Given the description of an element on the screen output the (x, y) to click on. 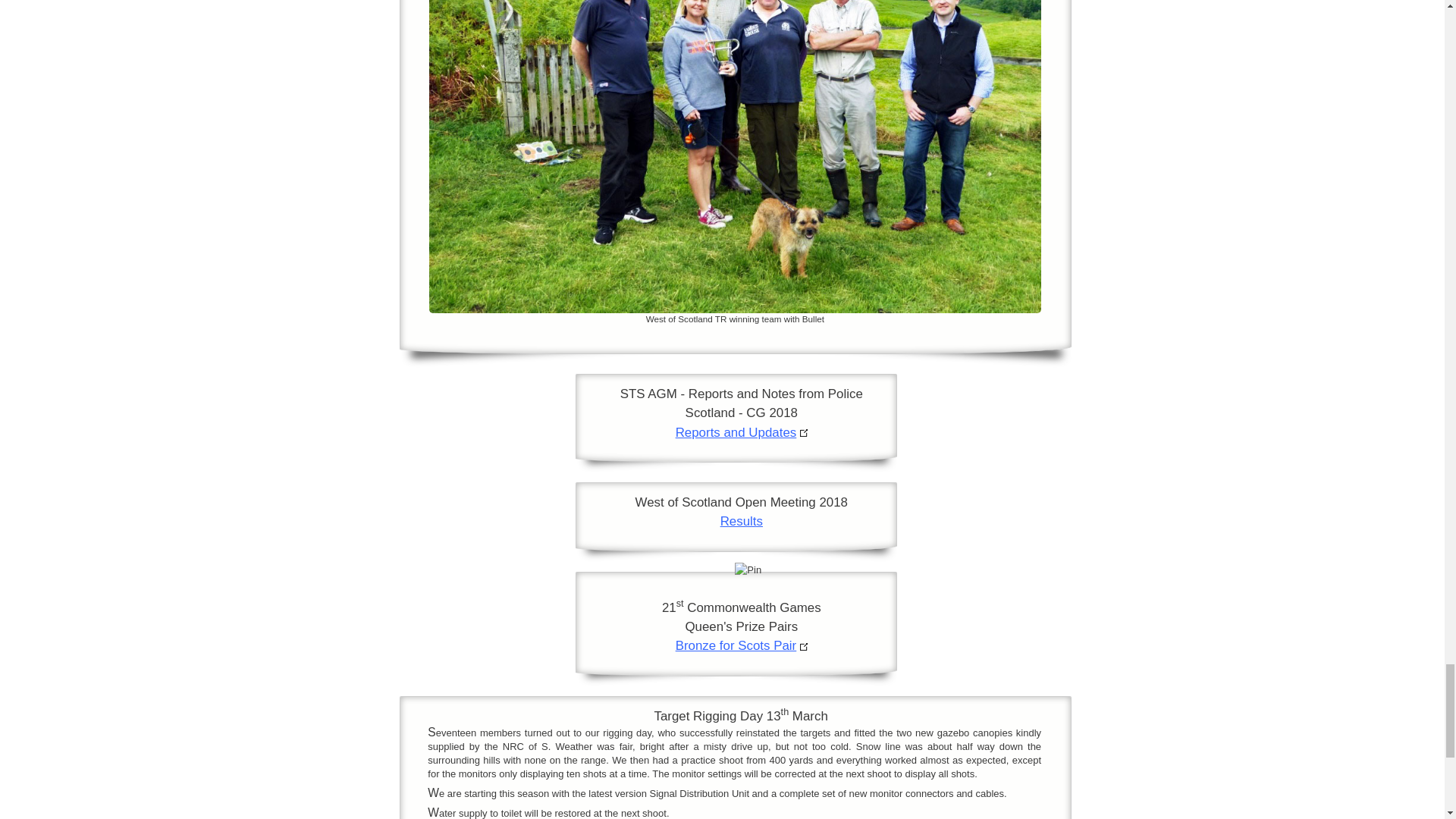
Bronze for Scots Pair (735, 645)
Results (741, 521)
Reports and Updates (735, 432)
